Given the description of an element on the screen output the (x, y) to click on. 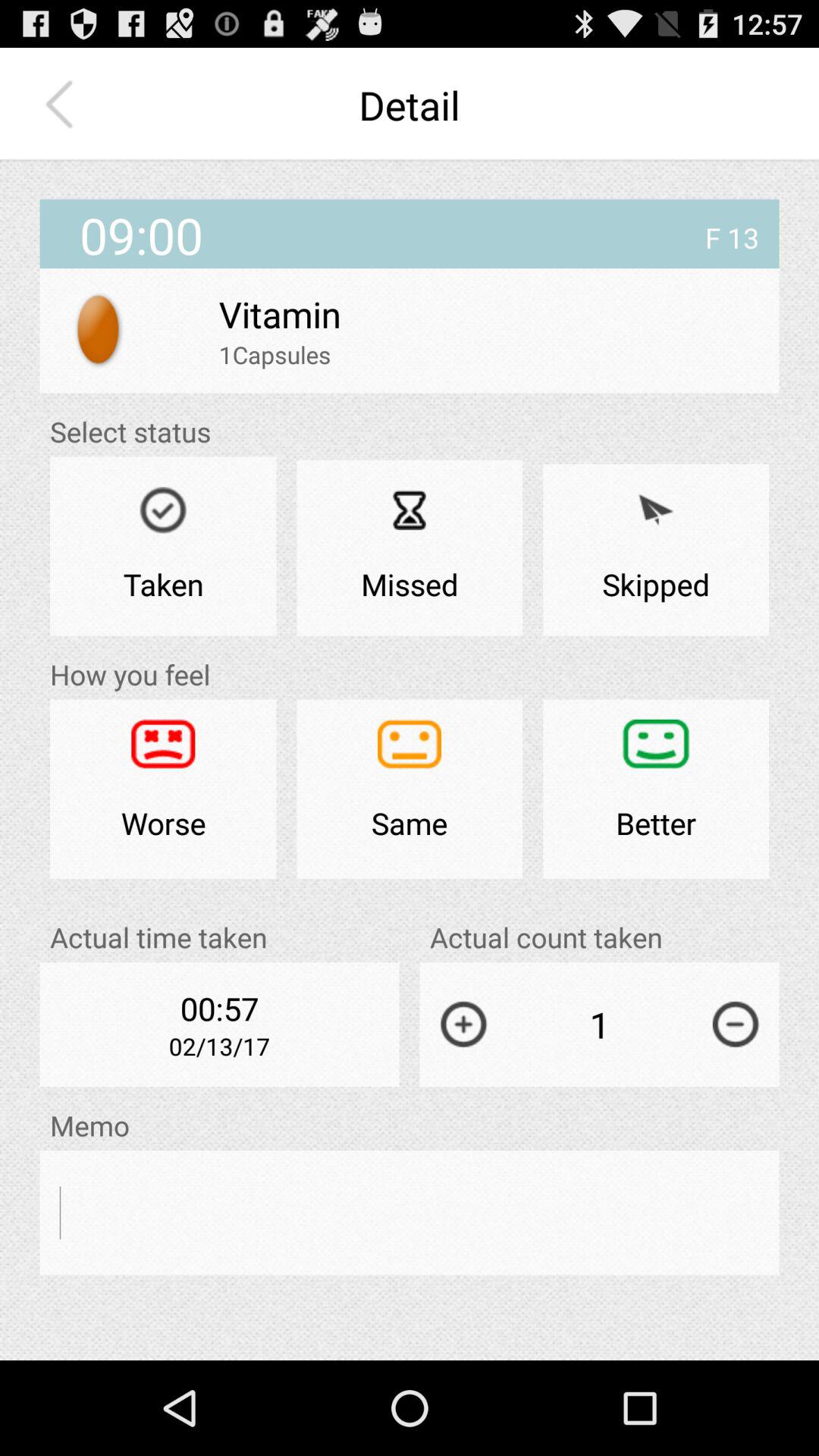
press the item below the how you feel icon (163, 788)
